Given the description of an element on the screen output the (x, y) to click on. 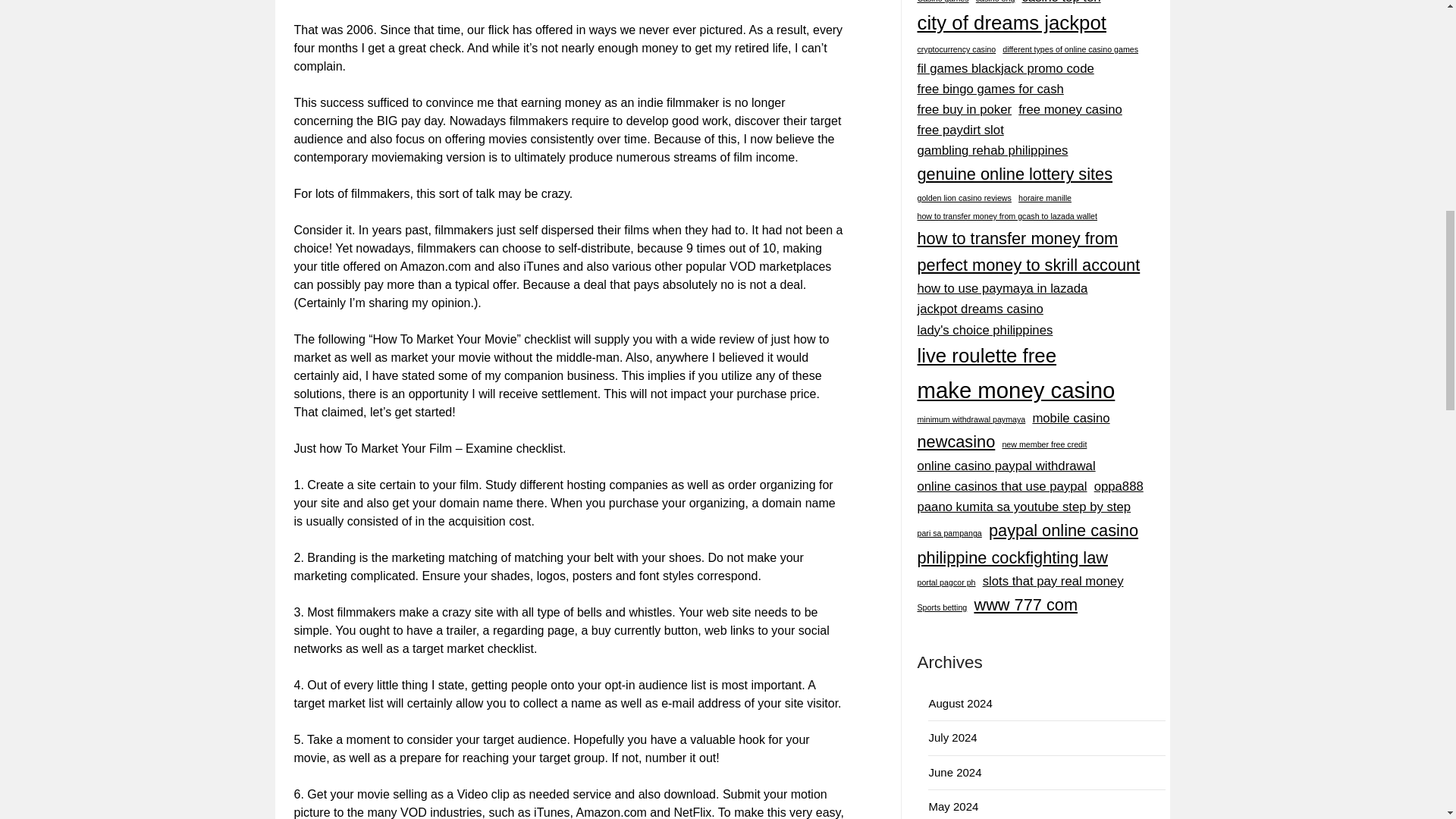
cryptocurrency casino (956, 49)
gambling rehab philippines (992, 150)
casino top ten (1061, 3)
fil games blackjack promo code (1005, 68)
how to transfer money from perfect money to skrill account (1033, 252)
how to transfer money from gcash to lazada wallet (1007, 215)
free buy in poker (964, 109)
free bingo games for cash (989, 88)
horaire manille (1044, 197)
free money casino (1069, 109)
